Given the description of an element on the screen output the (x, y) to click on. 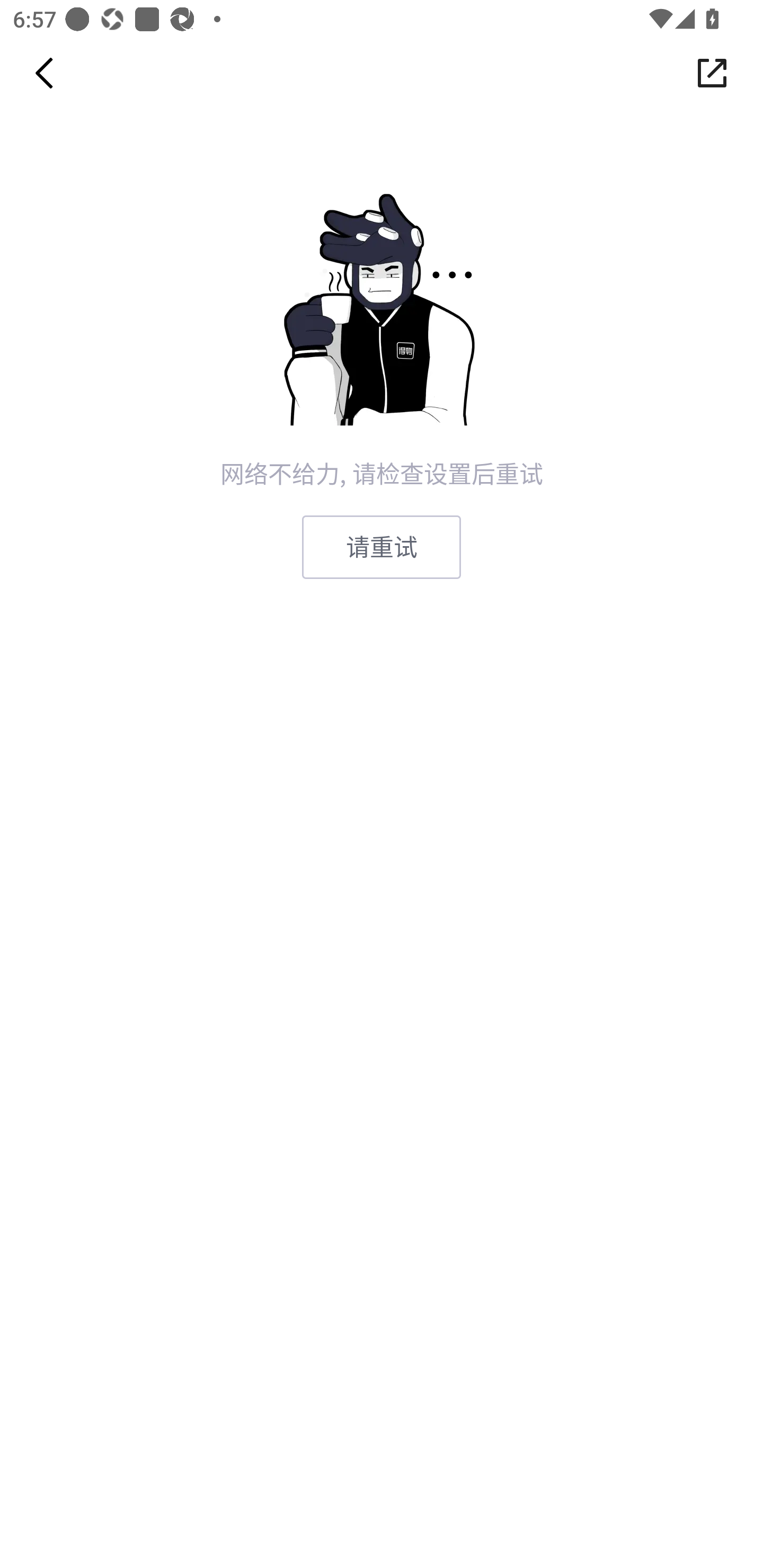
 (712, 72)
请重试 (381, 546)
